Given the description of an element on the screen output the (x, y) to click on. 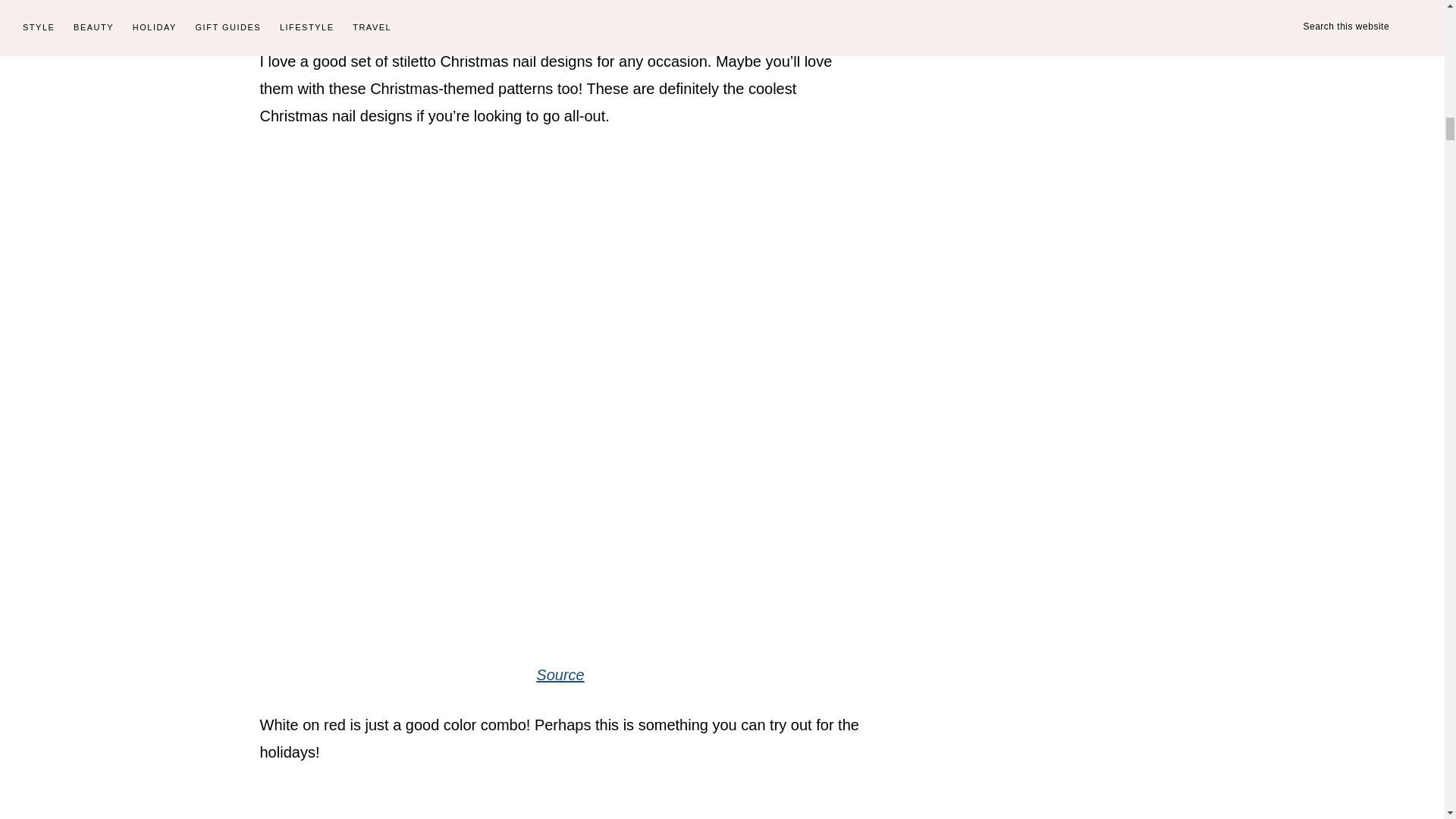
Source (559, 674)
Source (559, 11)
